Given the description of an element on the screen output the (x, y) to click on. 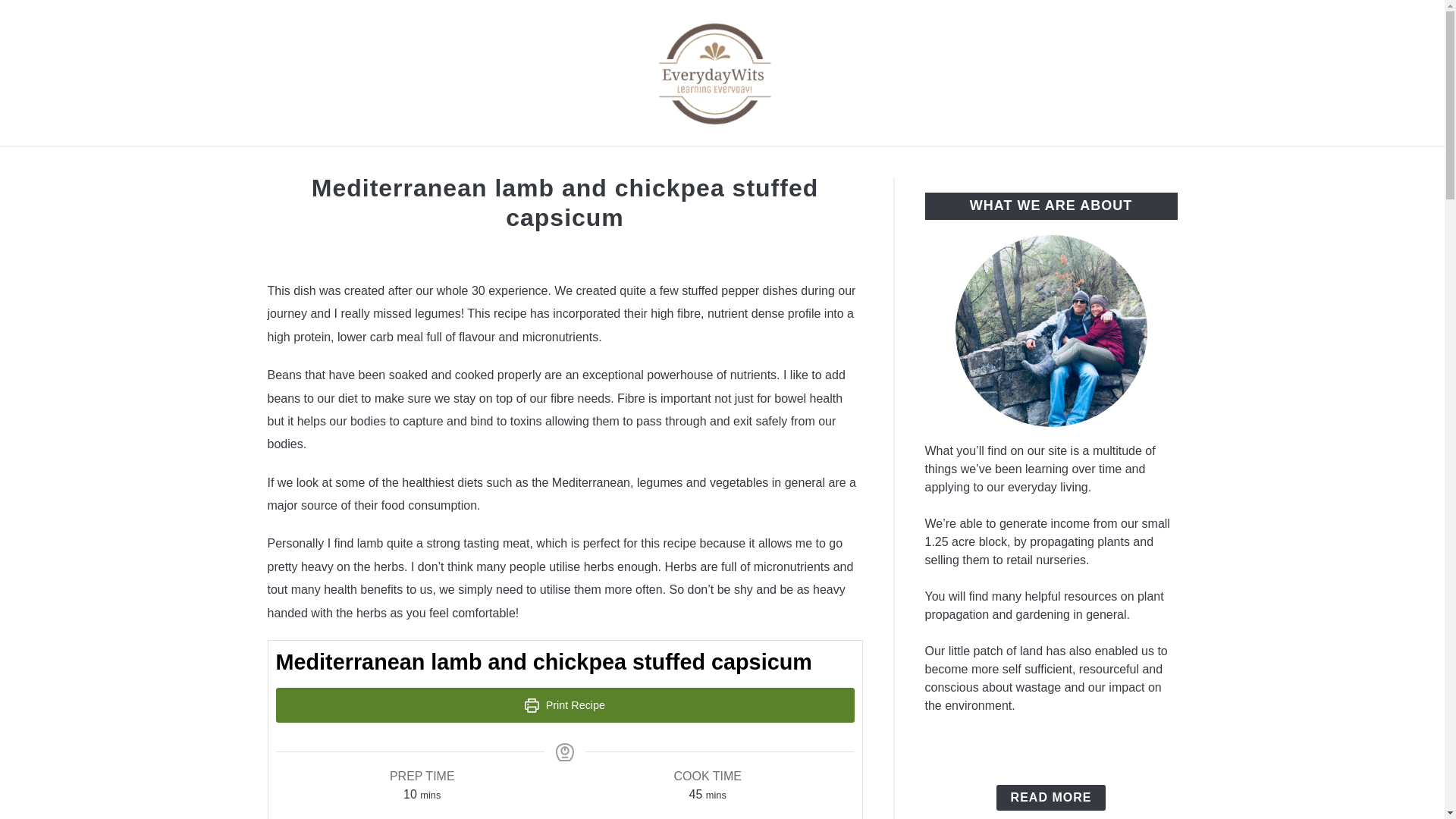
READ MORE (1050, 797)
PROPAGATION (672, 163)
ABOUT US (467, 163)
CONTACT US (967, 163)
HEALTH (866, 163)
Print Recipe (565, 704)
Search (1203, 72)
GARDEN (780, 163)
RECIPES (563, 163)
